Given the description of an element on the screen output the (x, y) to click on. 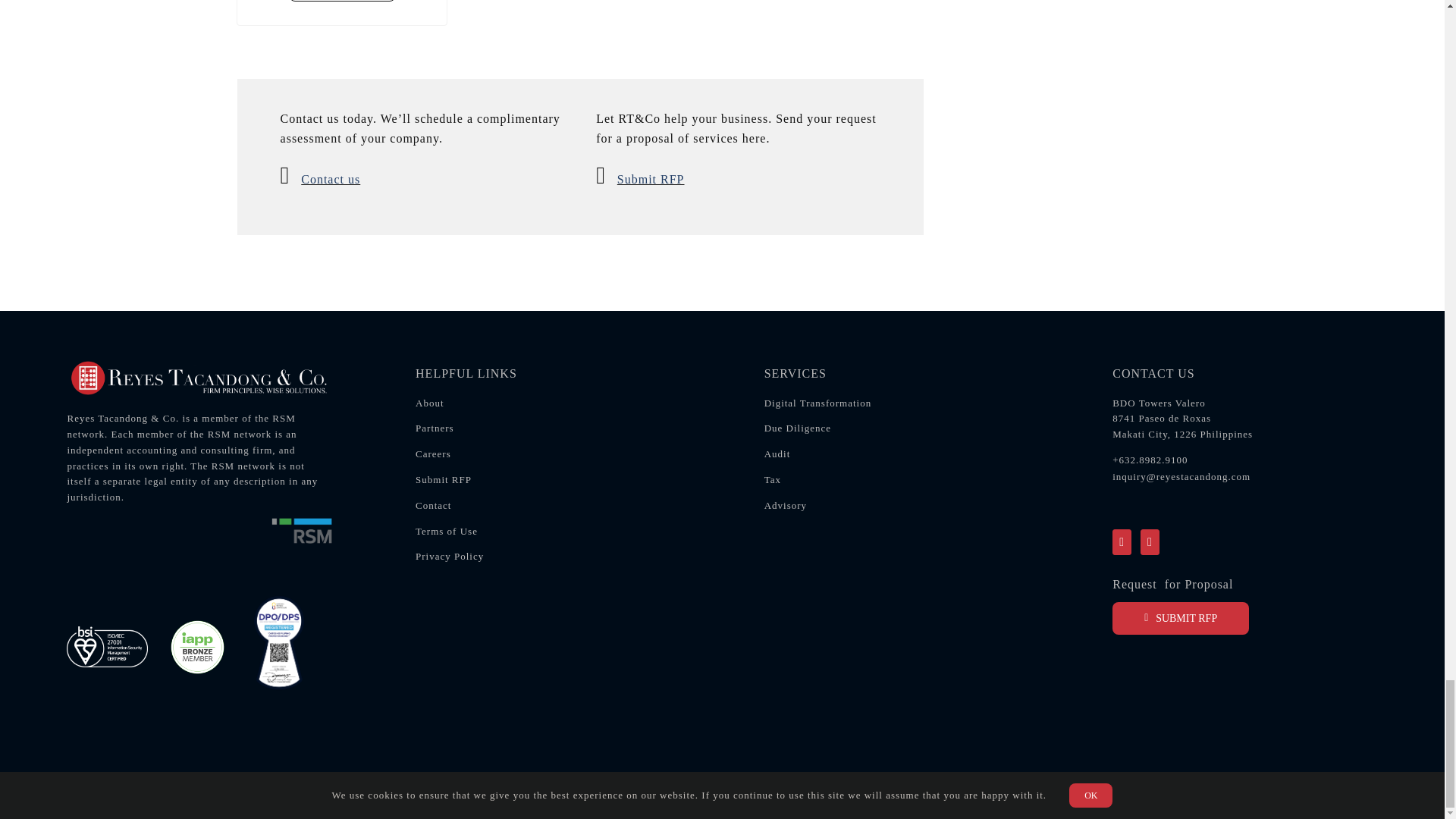
Download the report (342, 0)
Submit RFP (650, 178)
Contact us (330, 178)
